Given the description of an element on the screen output the (x, y) to click on. 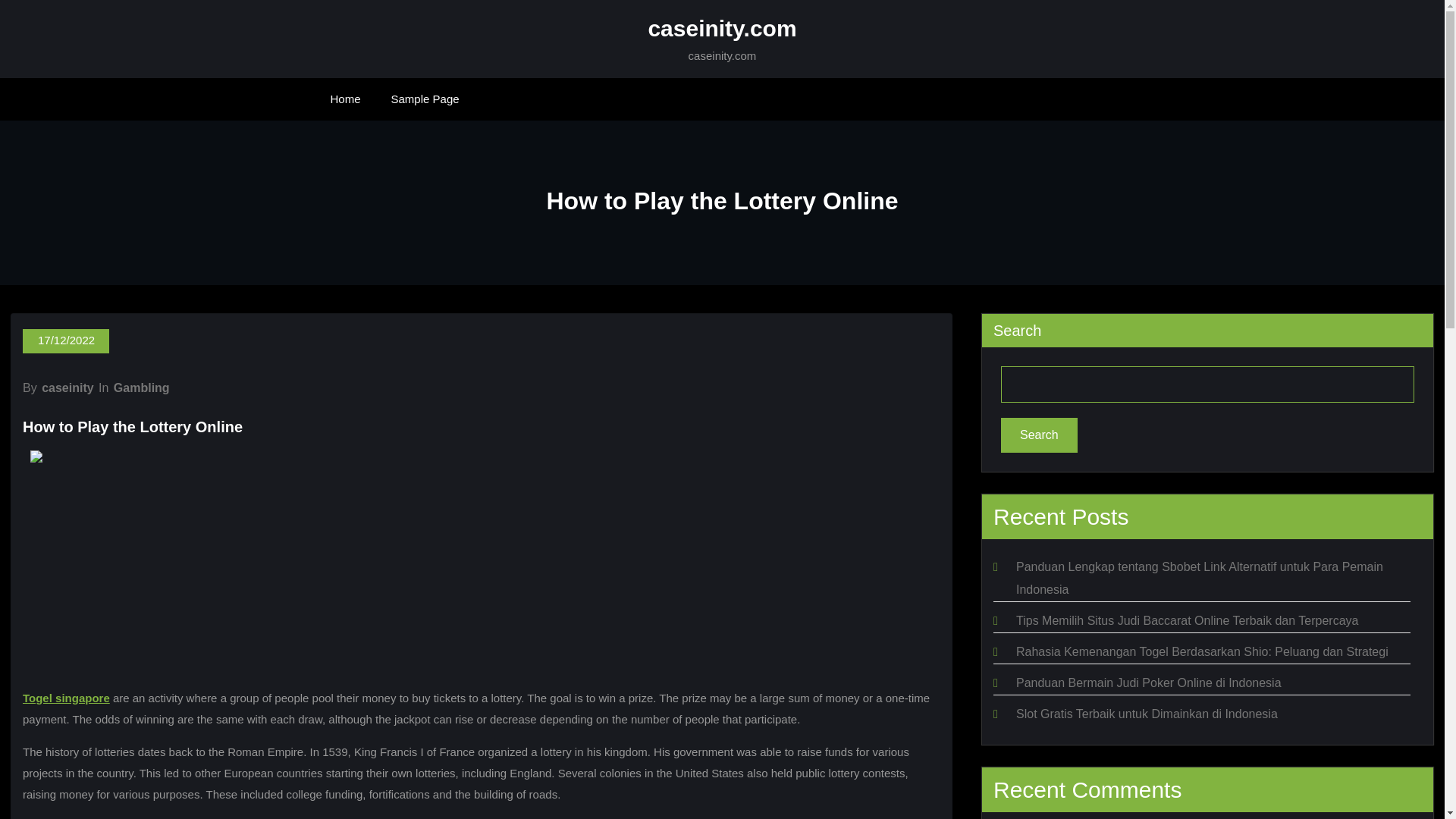
Togel singapore (66, 697)
Sample Page (424, 98)
Search (1039, 434)
Gambling (141, 387)
Home (345, 98)
Panduan Bermain Judi Poker Online di Indonesia (1148, 682)
Slot Gratis Terbaik untuk Dimainkan di Indonesia (1147, 713)
Home (345, 98)
caseinity (67, 387)
